Given the description of an element on the screen output the (x, y) to click on. 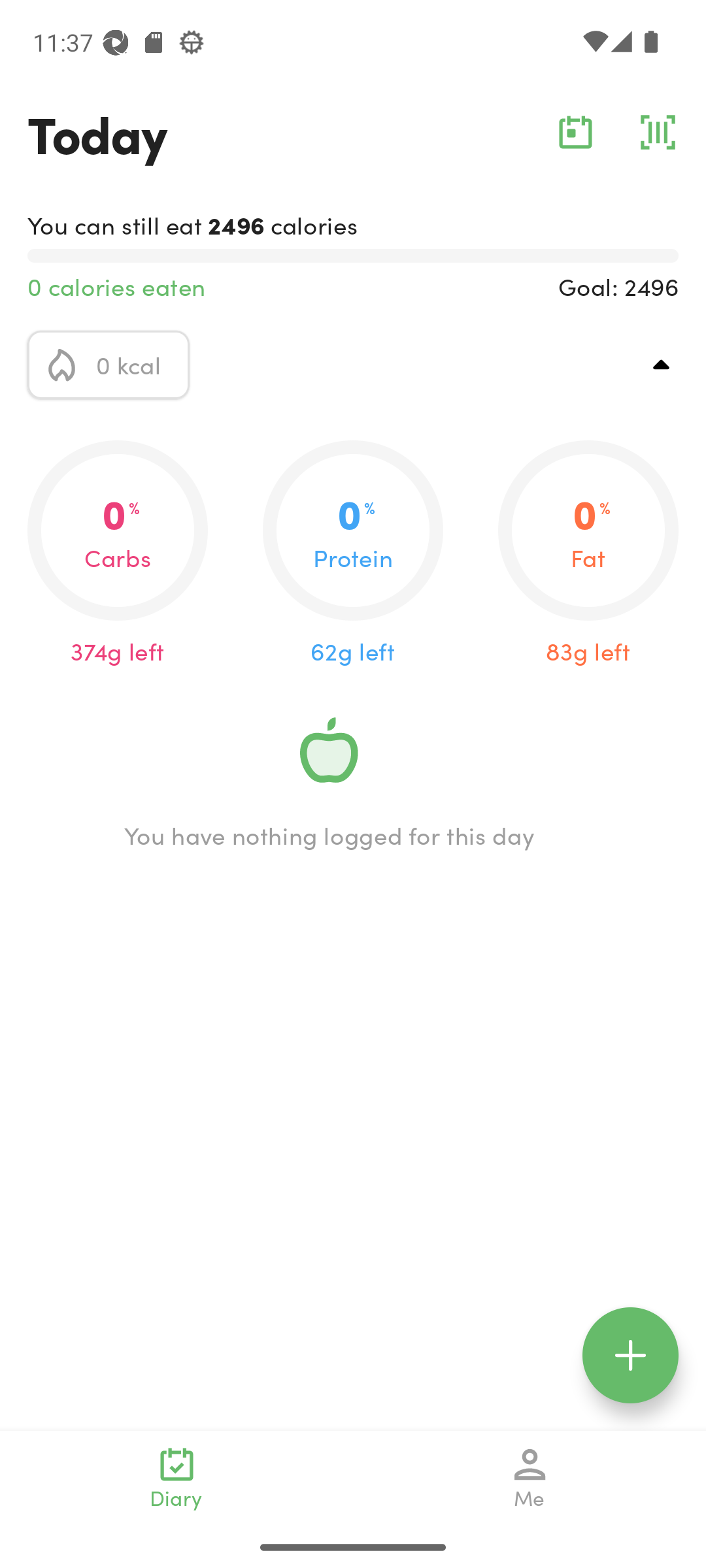
calendar_action (575, 132)
barcode_action (658, 132)
calorie_icon 0 kcal (108, 365)
top_right_action (661, 365)
0.0 0 % Carbs 374g left (117, 553)
0.0 0 % Protein 62g left (352, 553)
0.0 0 % Fat 83g left (588, 553)
floating_action_icon (630, 1355)
Me navigation_icon (529, 1478)
